Given the description of an element on the screen output the (x, y) to click on. 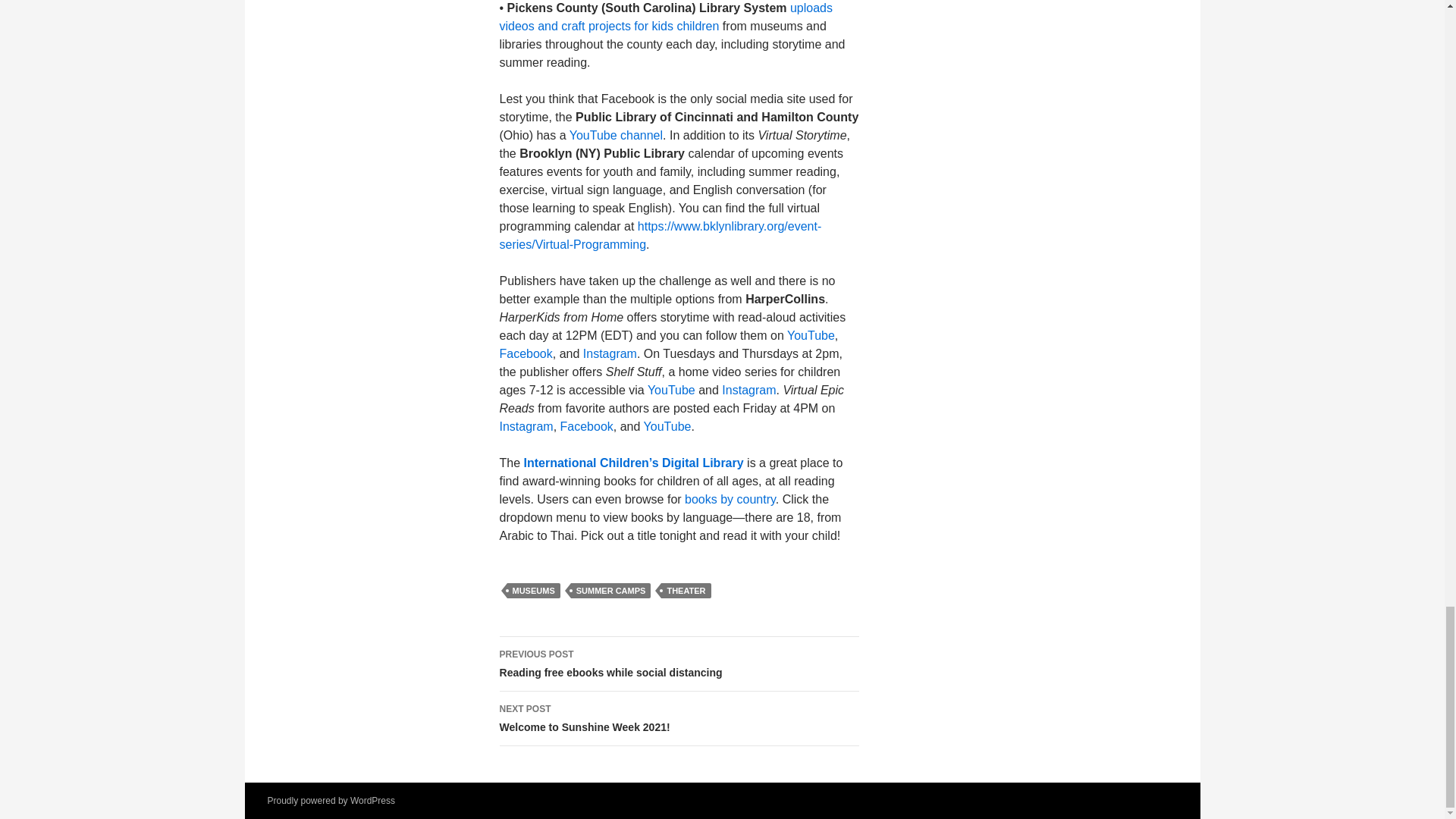
uploads videos and craft projects for kids children (665, 16)
YouTube (667, 426)
Instagram (749, 390)
YouTube (810, 335)
YouTube channel (615, 134)
YouTube (671, 390)
Facebook (586, 426)
Instagram (610, 353)
Facebook (525, 353)
Instagram (526, 426)
